Given the description of an element on the screen output the (x, y) to click on. 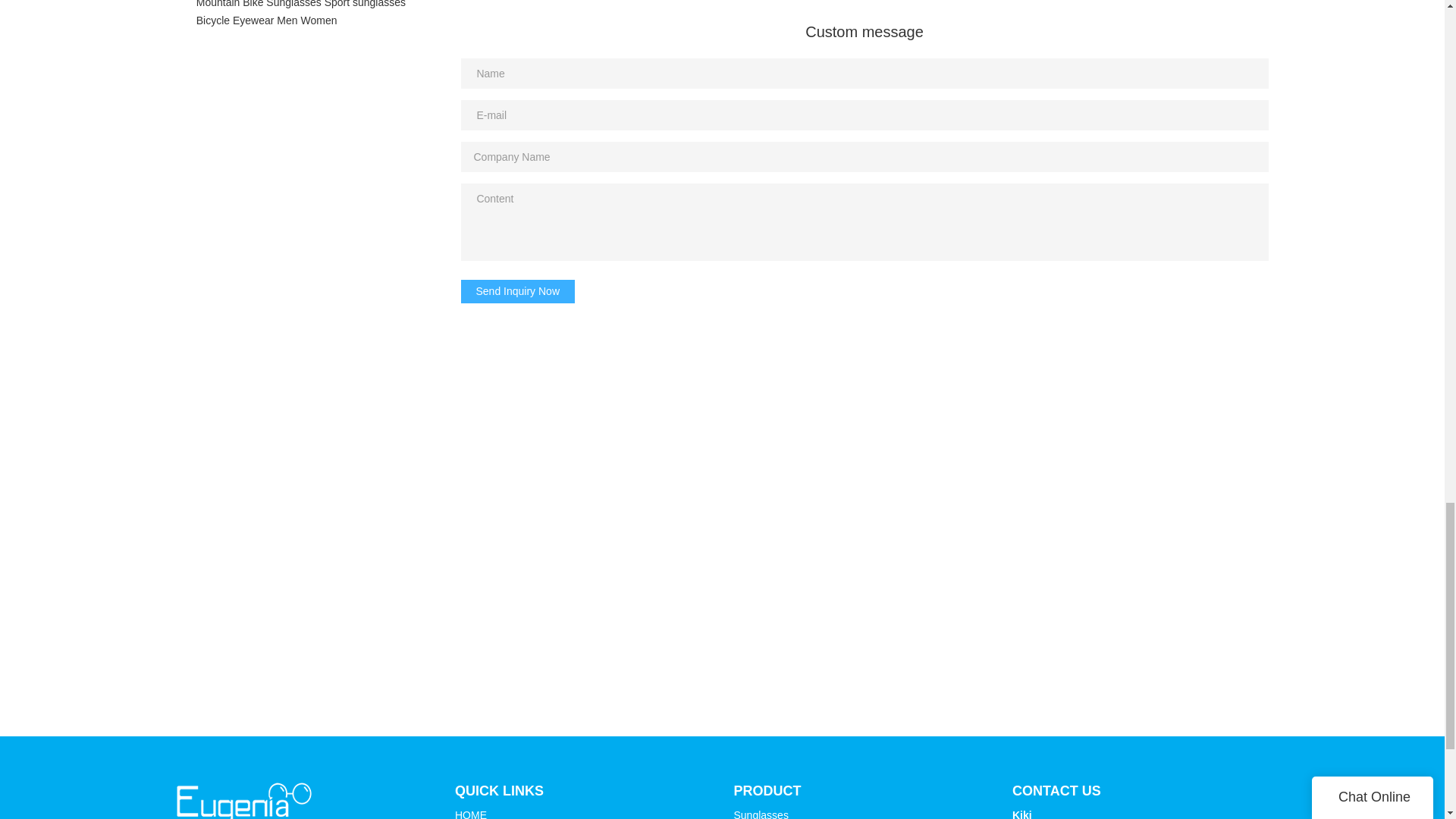
Send Inquiry Now (518, 291)
